Given the description of an element on the screen output the (x, y) to click on. 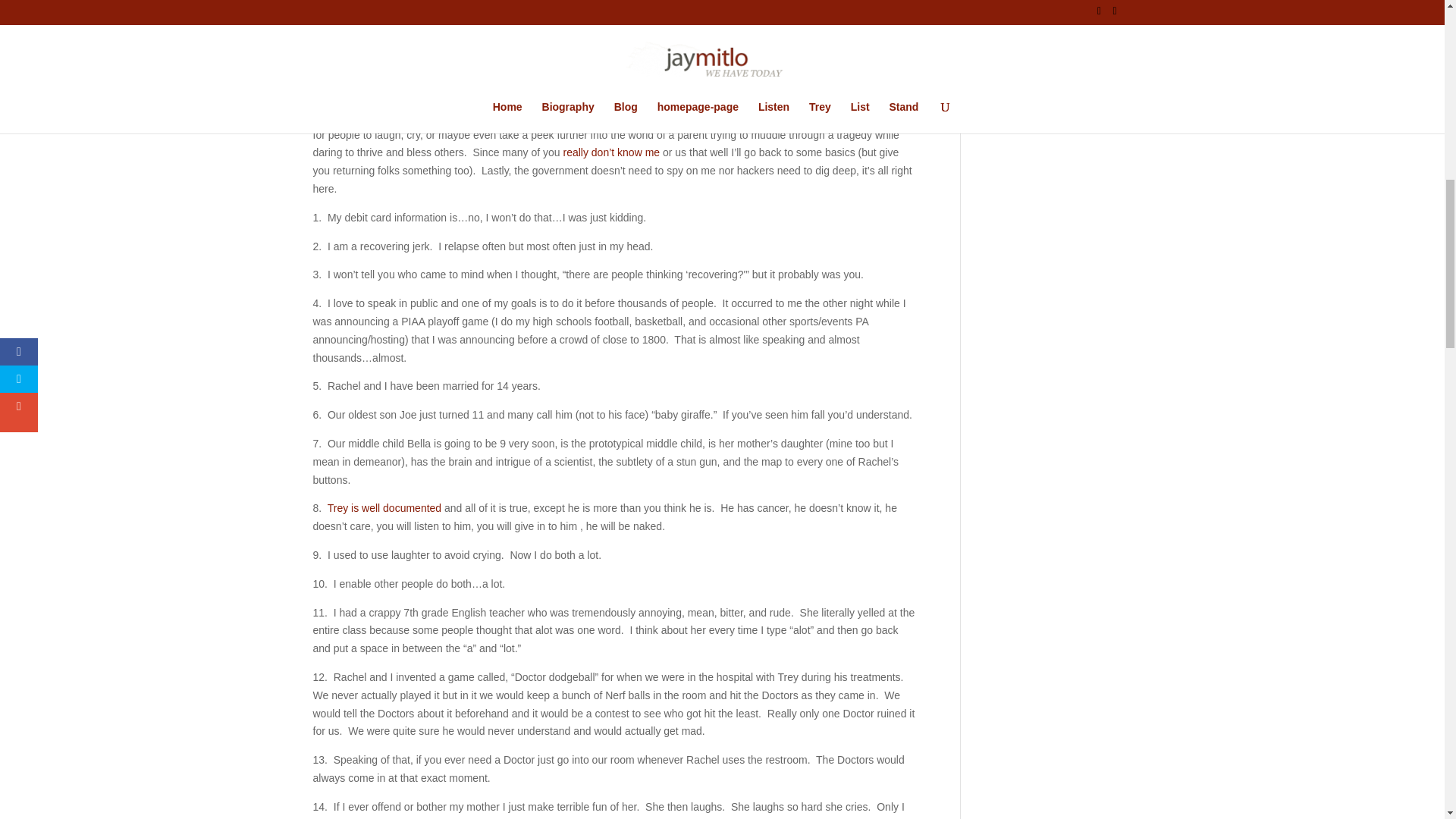
Trey is well documented (385, 243)
50 Shades of Trey (385, 243)
